Given the description of an element on the screen output the (x, y) to click on. 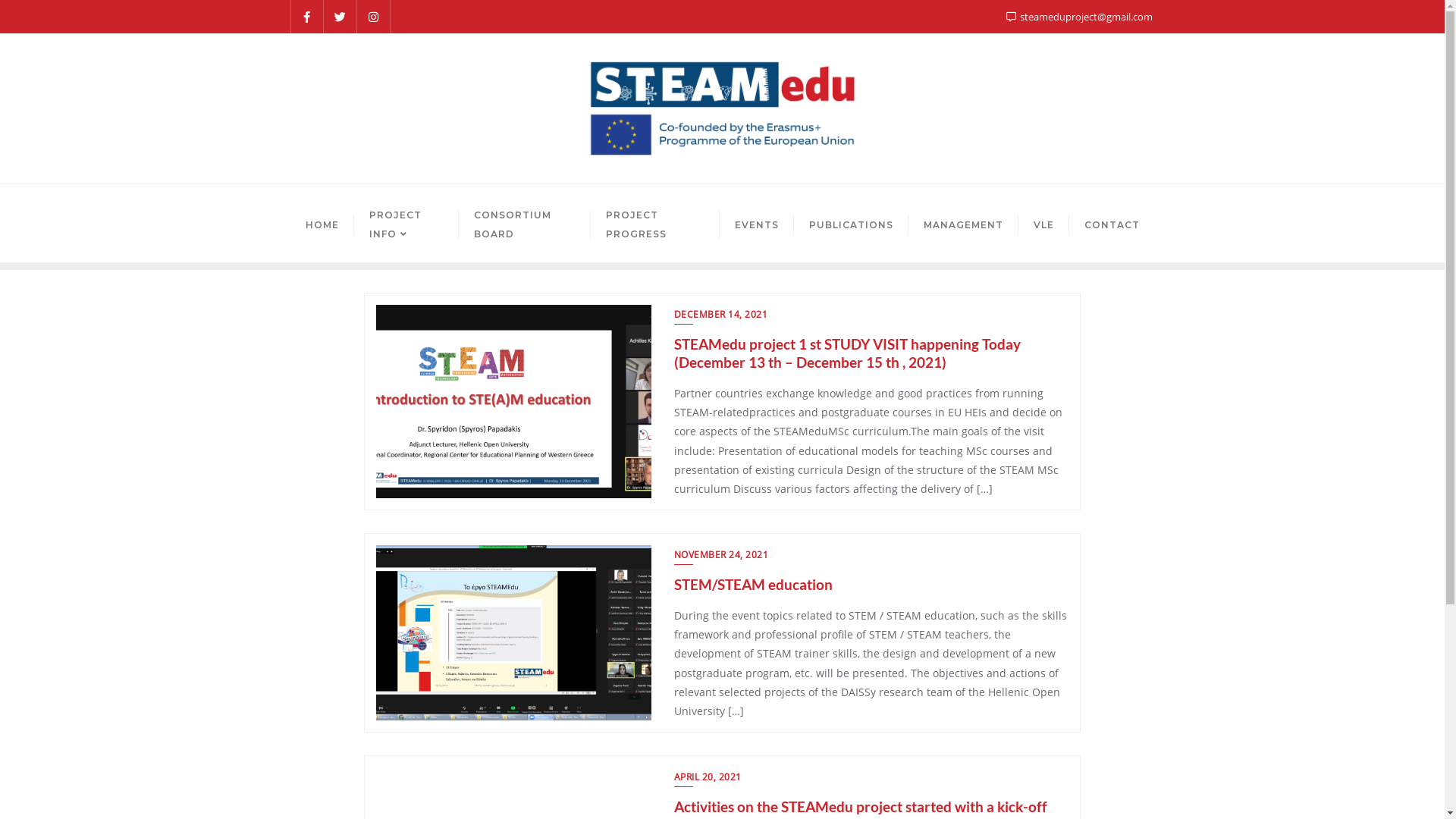
DECEMBER 14, 2021 Element type: text (721, 315)
VLE Element type: text (1042, 223)
PROJECT PROGRESS Element type: text (654, 222)
APRIL 20, 2021 Element type: text (707, 778)
MANAGEMENT Element type: text (963, 223)
CONSORTIUM BOARD Element type: text (524, 222)
PUBLICATIONS Element type: text (850, 223)
HOME Element type: text (321, 223)
STEM/STEAM education Element type: text (753, 584)
CONTACT Element type: text (1111, 223)
EVENTS Element type: text (755, 223)
NOVEMBER 24, 2021 Element type: text (721, 556)
PROJECT INFO Element type: text (405, 222)
